Given the description of an element on the screen output the (x, y) to click on. 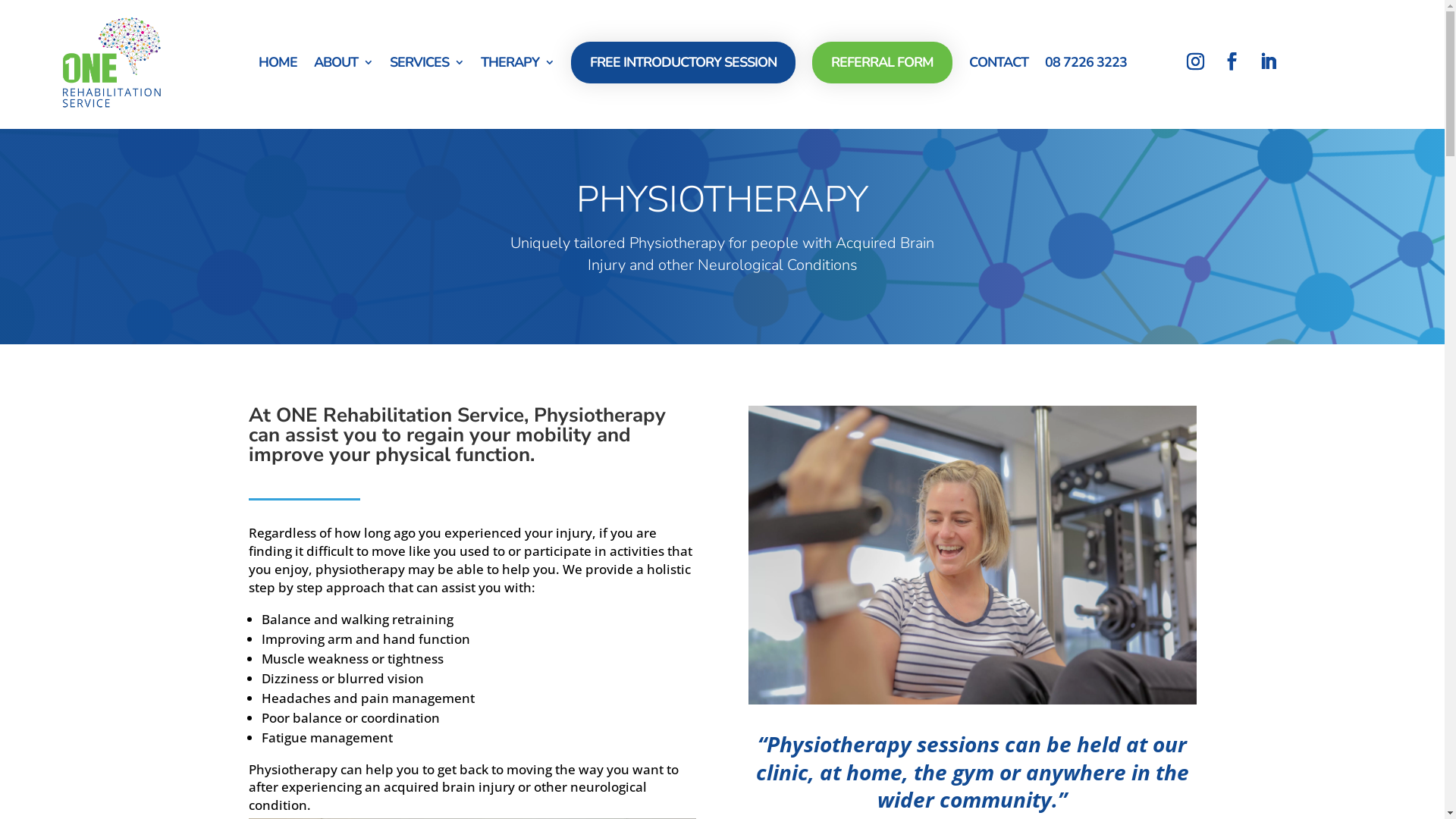
CONTACT Element type: text (998, 62)
ABOUT Element type: text (343, 62)
Skip to content Element type: text (0, 0)
08 7226 3223 Element type: text (1085, 62)
HOME Element type: text (277, 62)
Nicolette Alberts, Principal Physiotherapist Element type: hover (972, 554)
Follow on LinkedIn Element type: hover (1267, 60)
Follow on Instagram Element type: hover (1194, 60)
REFERRAL FORM Element type: text (882, 62)
FREE INTRODUCTORY SESSION Element type: text (683, 62)
Follow on Facebook Element type: hover (1231, 60)
THERAPY Element type: text (517, 62)
SERVICES Element type: text (426, 62)
